Given the description of an element on the screen output the (x, y) to click on. 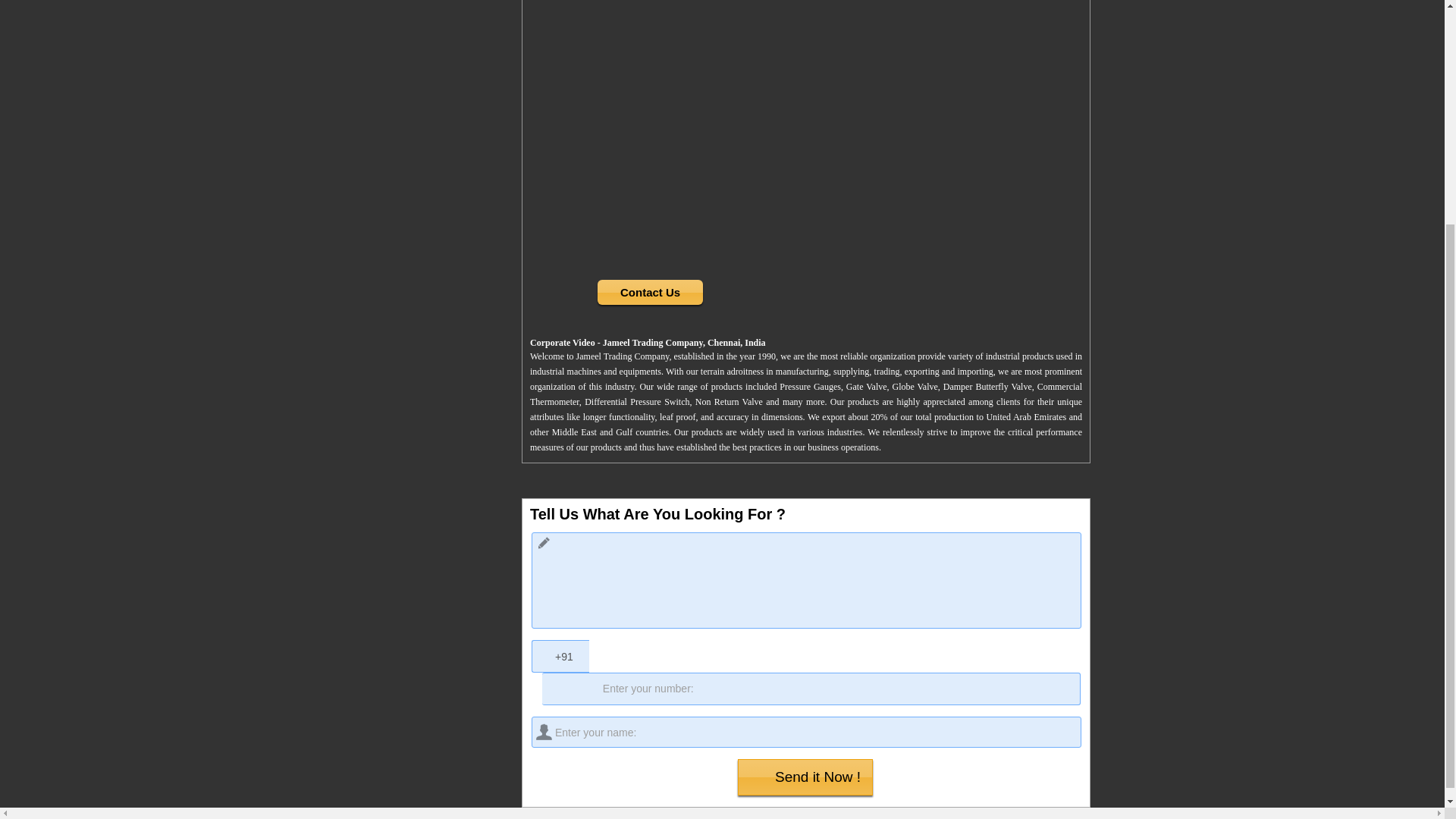
Enter your number: (810, 688)
Send it Now ! (805, 777)
Send it Now ! (805, 777)
Enter your name: (806, 731)
